Given the description of an element on the screen output the (x, y) to click on. 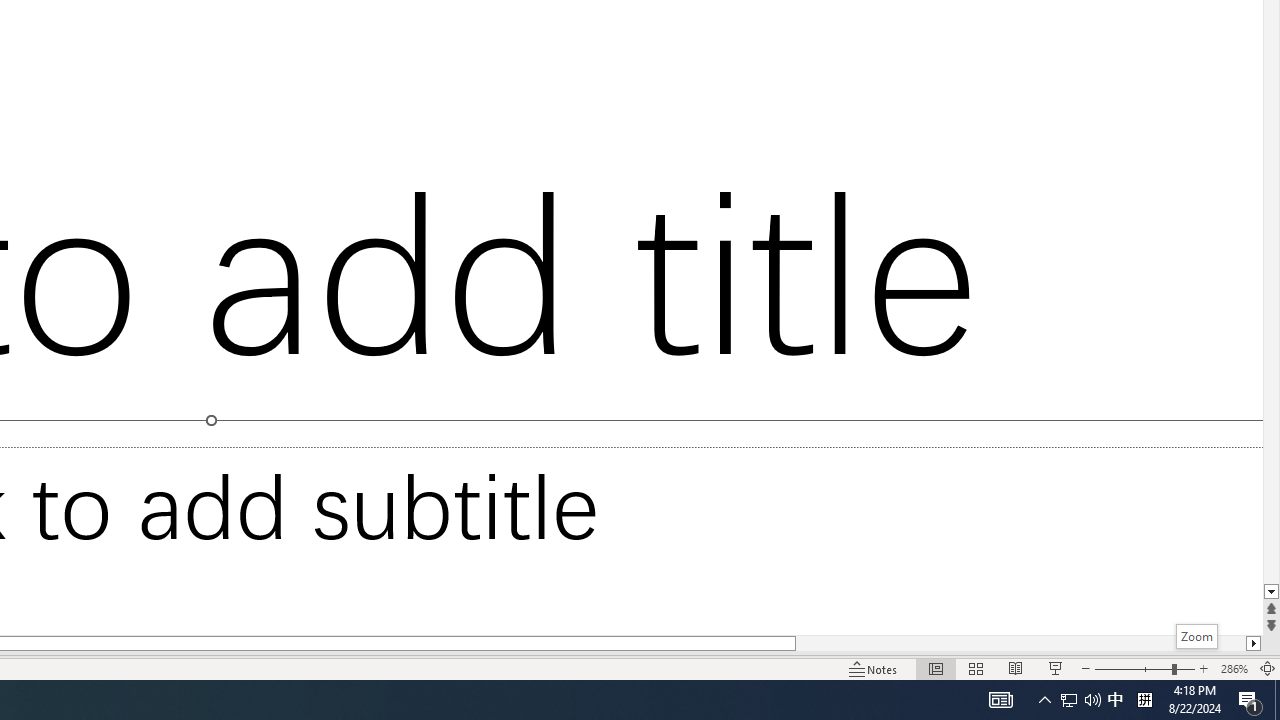
Zoom 286% (1234, 668)
